Given the description of an element on the screen output the (x, y) to click on. 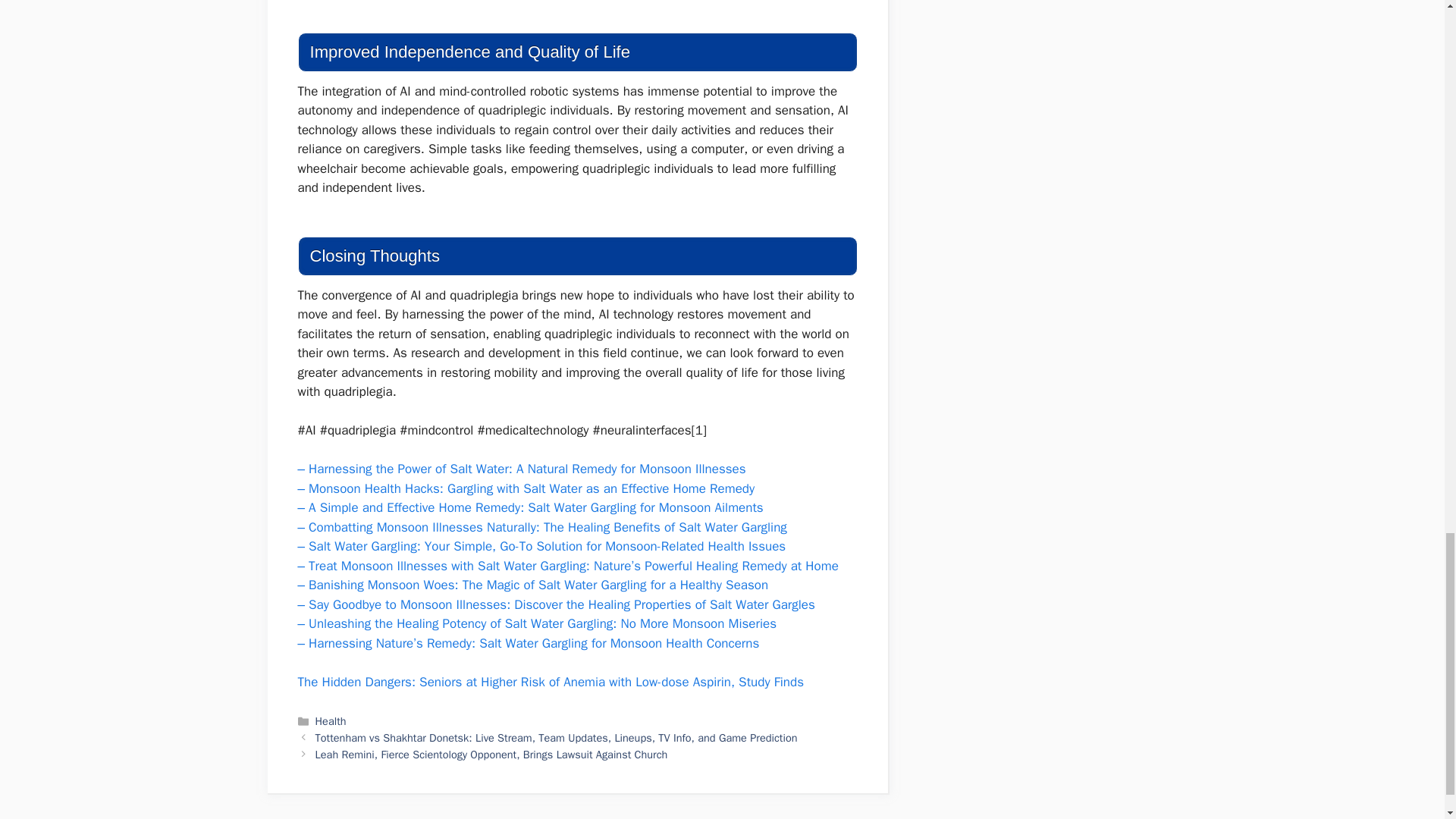
Health (330, 721)
